Given the description of an element on the screen output the (x, y) to click on. 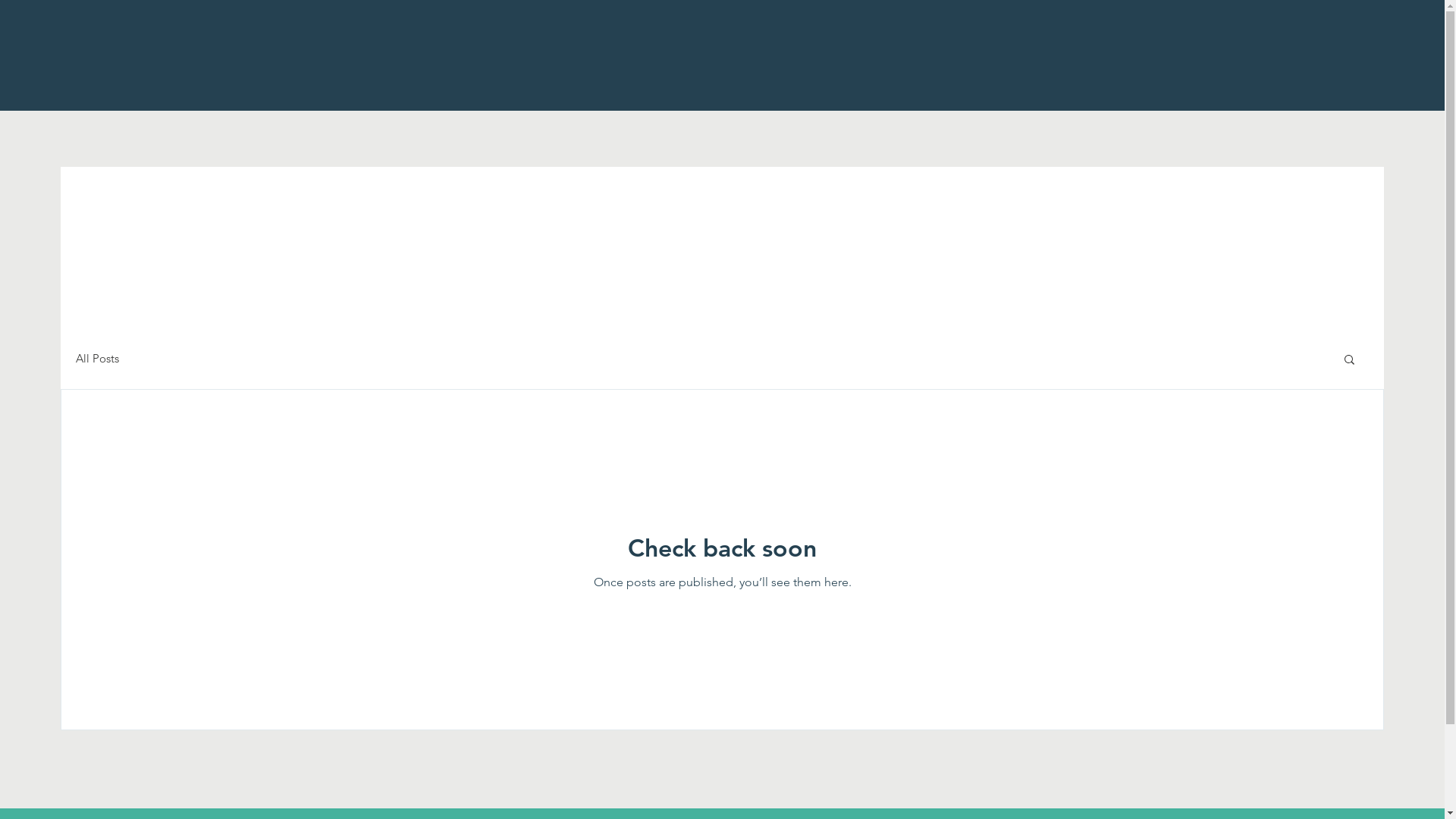
All Posts Element type: text (97, 358)
